Given the description of an element on the screen output the (x, y) to click on. 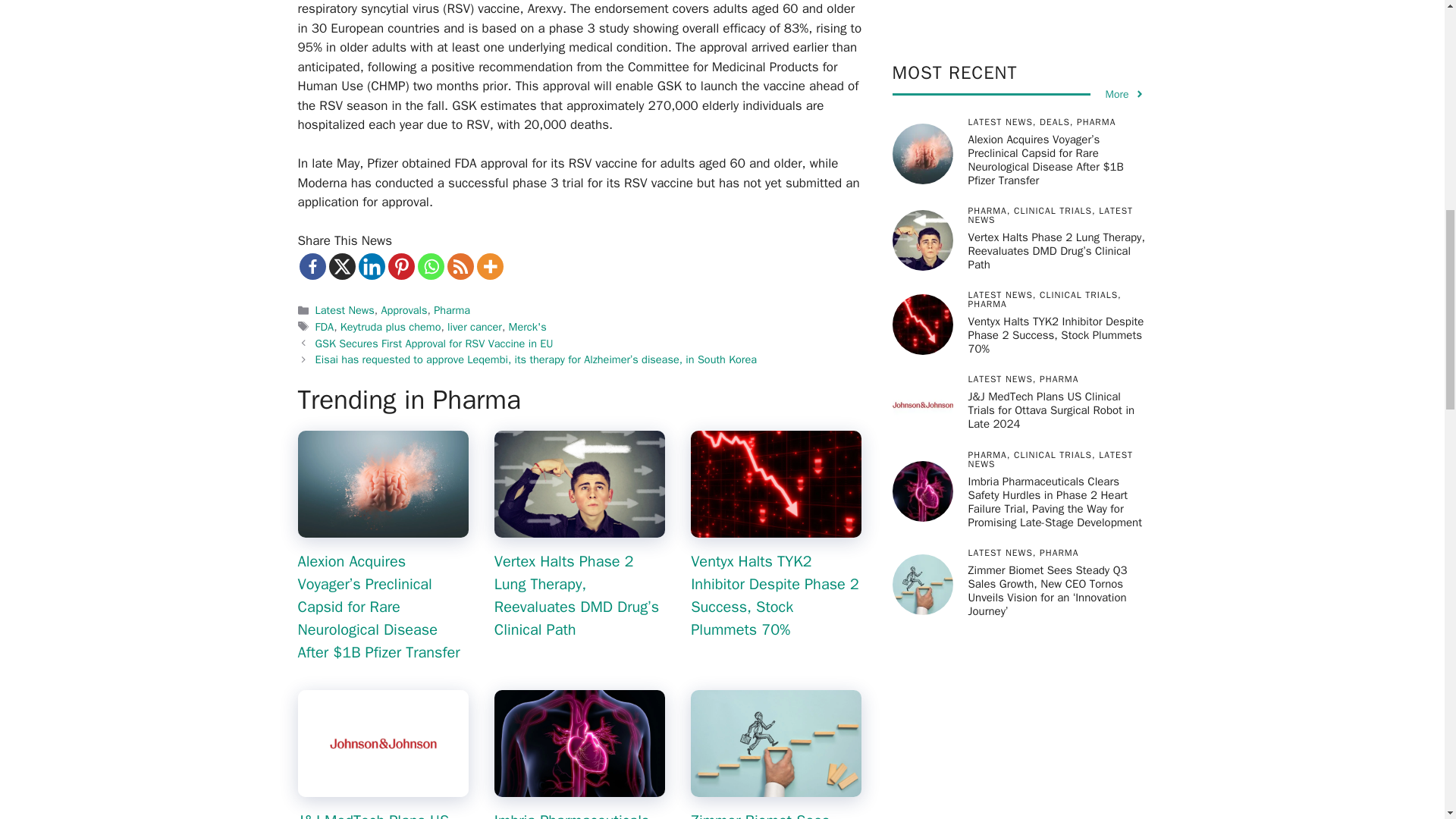
FDA (324, 326)
Approvals (403, 309)
Linkedin (371, 266)
Pinterest (401, 266)
GSK Secures First Approval for RSV Vaccine in EU (434, 343)
RSS Feed (460, 266)
X (342, 266)
Merck's (527, 326)
Keytruda plus chemo (390, 326)
Whatsapp (430, 266)
Pharma (451, 309)
More (489, 266)
Facebook (311, 266)
